Given the description of an element on the screen output the (x, y) to click on. 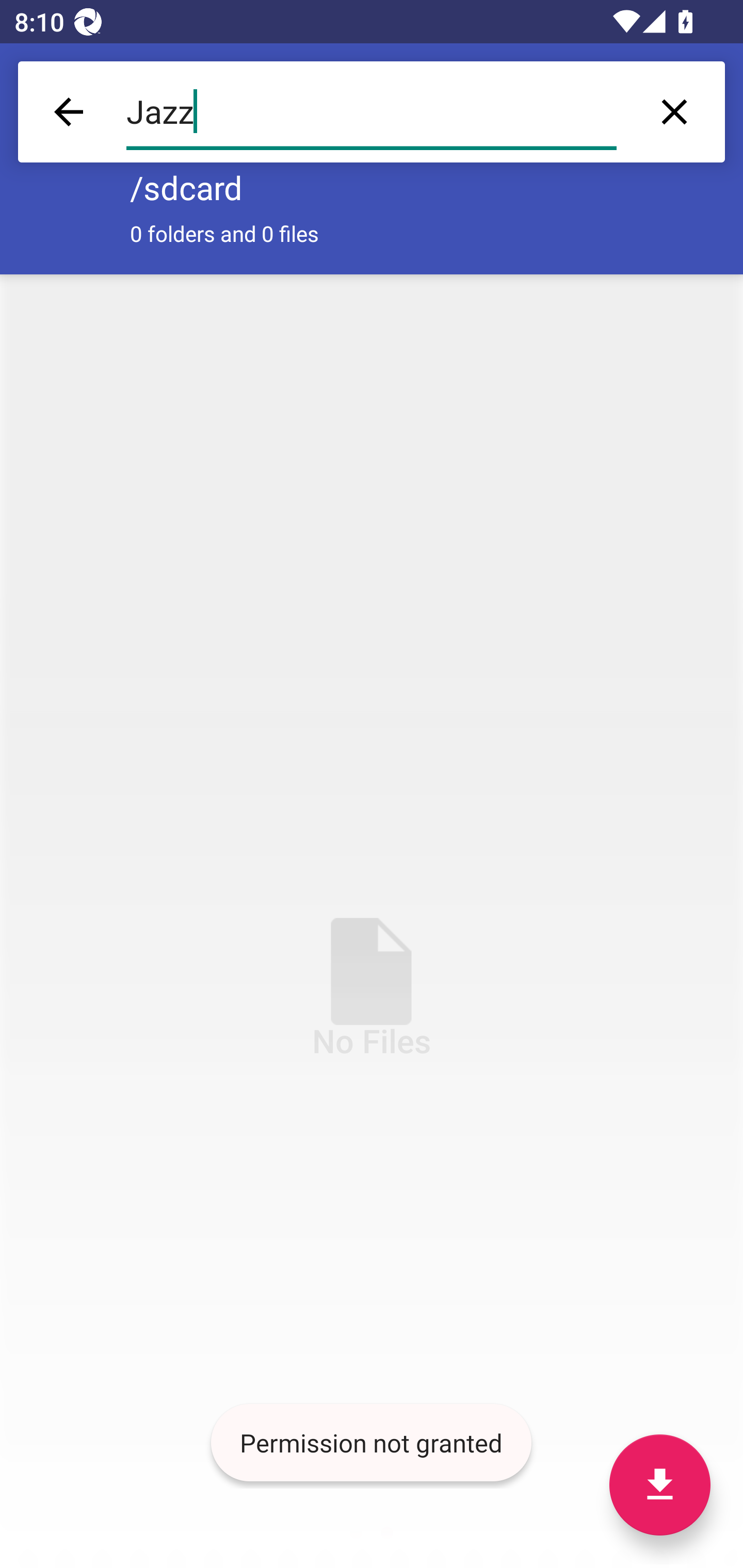
Jazz (371, 112)
